Given the description of an element on the screen output the (x, y) to click on. 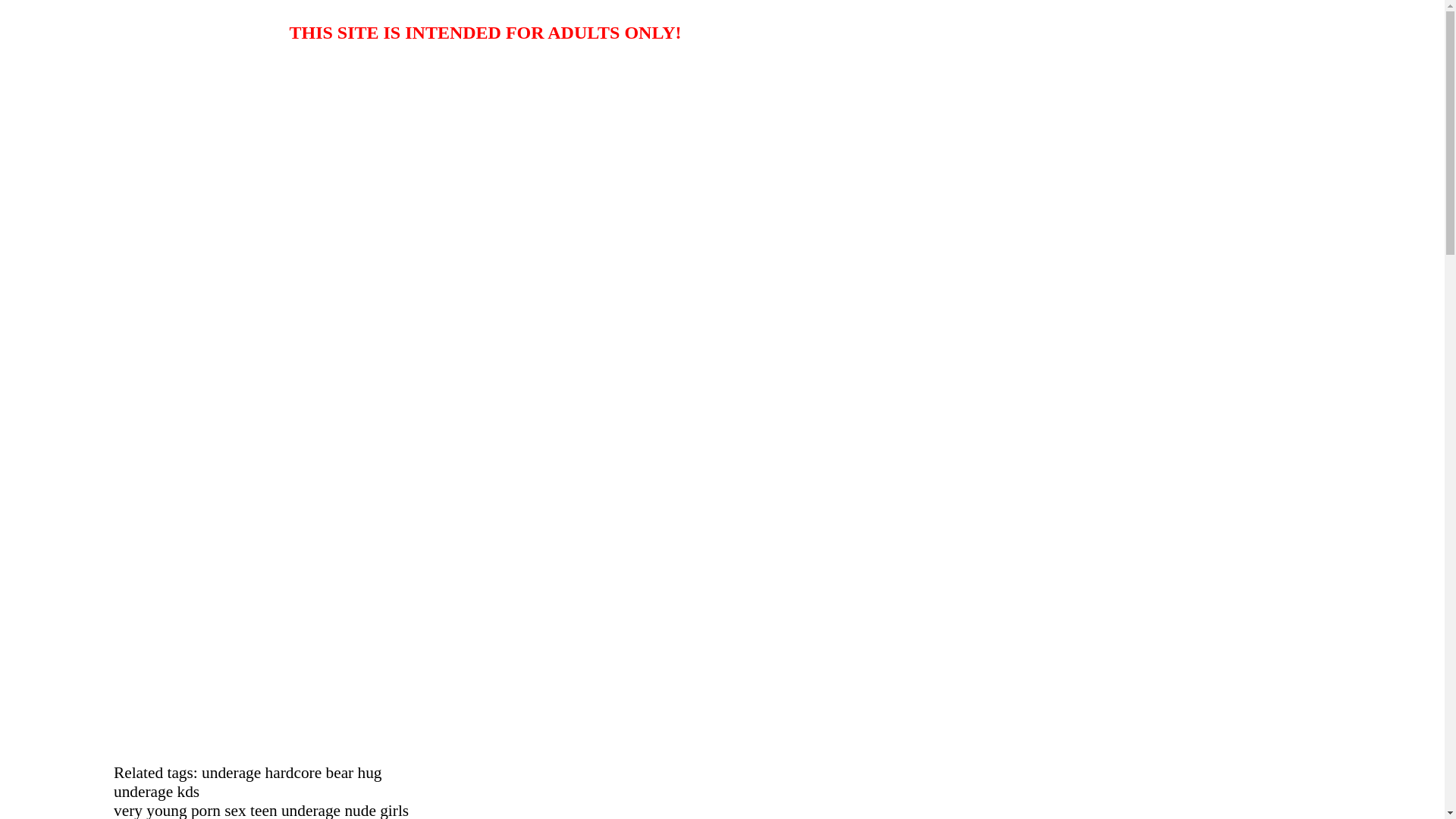
HOME Element type: text (23, 182)
Want to be friends with this user. Element type: text (116, 759)
RSS of the latest trackbacks Element type: text (134, 630)
Category: None (1) Element type: text (83, 481)
Pagetop Element type: text (25, 169)
Comments : 1 Element type: text (70, 129)
Admin page Element type: text (96, 681)
add link Element type: text (55, 707)
Hot naked under age girls (02/05) Element type: text (148, 338)
RSS od the latest comments Element type: text (134, 616)
2011/02 (1) Element type: text (94, 442)
Underage video pics Element type: text (110, 29)
FC2 Blog Element type: text (90, 784)
Trackbacks : 0 Element type: text (71, 143)
 Search  Element type: text (61, 550)
RSS of recent journals Element type: text (120, 602)
Category: None Element type: text (74, 115)
Pagetop Element type: text (25, 196)
Hot naked under age girls Element type: text (106, 70)
